Given the description of an element on the screen output the (x, y) to click on. 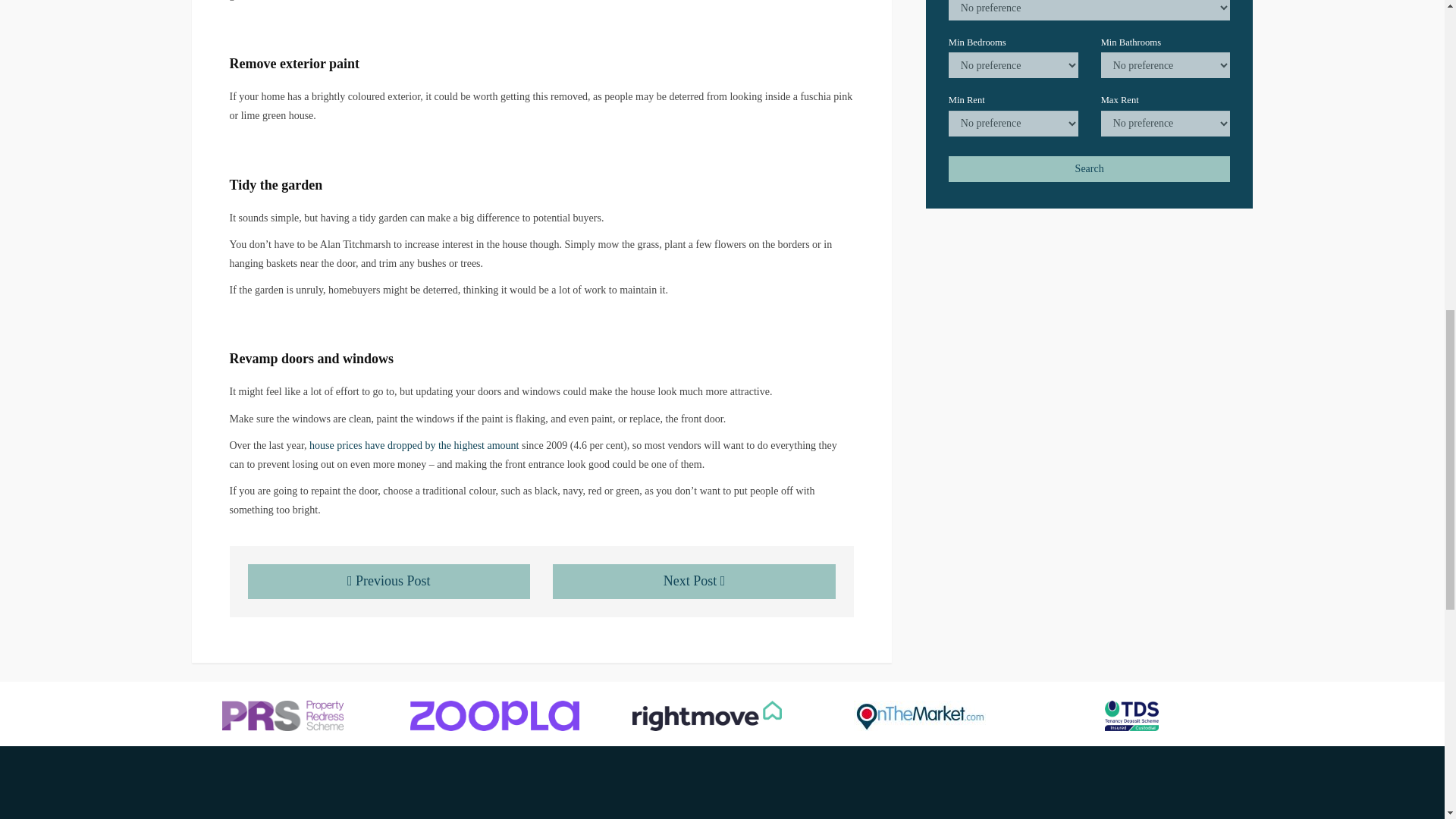
Previous Post (388, 581)
Search (1089, 168)
Next Post (694, 581)
house prices have dropped by the highest amount (413, 445)
